Given the description of an element on the screen output the (x, y) to click on. 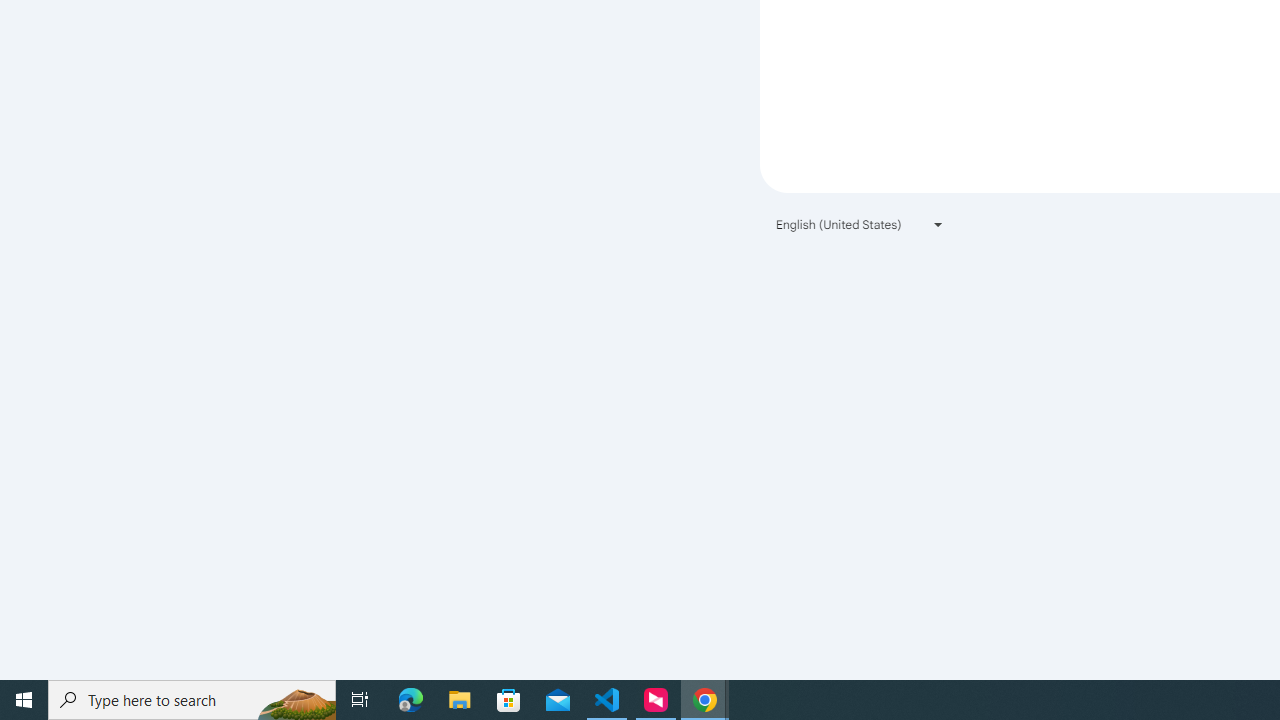
English (United States) (860, 224)
